Given the description of an element on the screen output the (x, y) to click on. 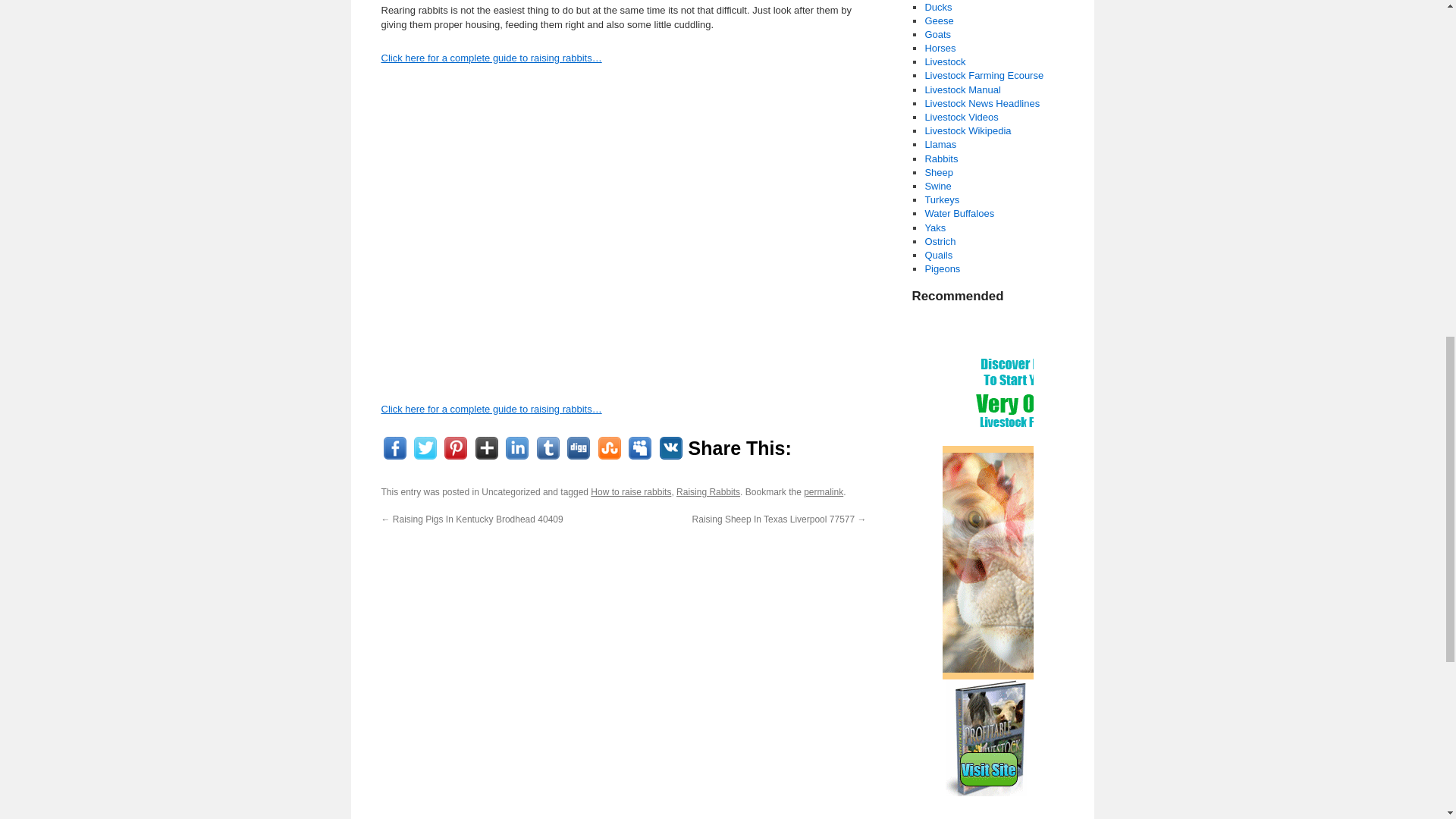
How to raise rabbits (631, 491)
Raising Rabbits (708, 491)
permalink (823, 491)
